Given the description of an element on the screen output the (x, y) to click on. 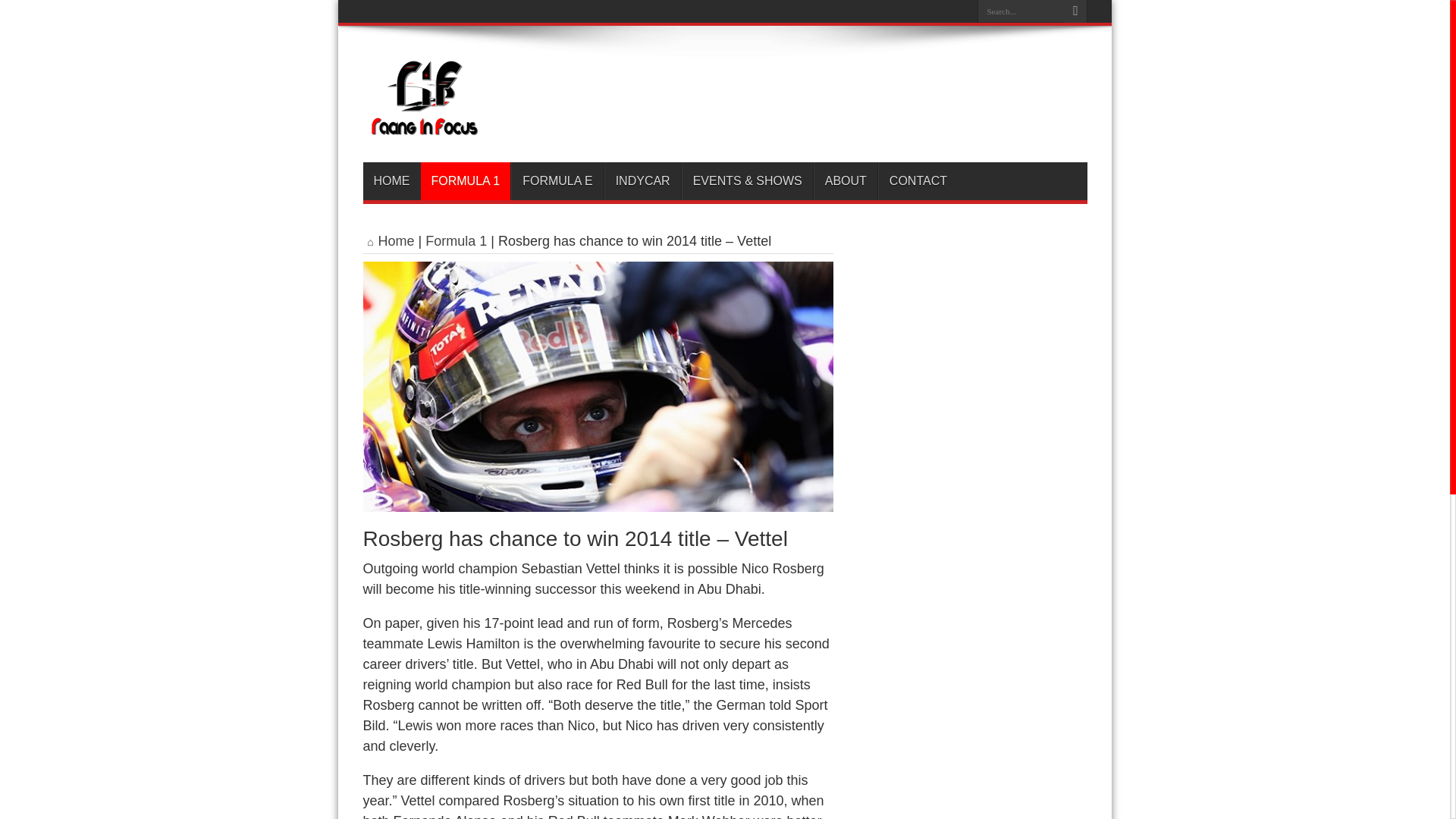
Search... (1020, 11)
Racing In Focus (424, 124)
Search (1075, 11)
